Given the description of an element on the screen output the (x, y) to click on. 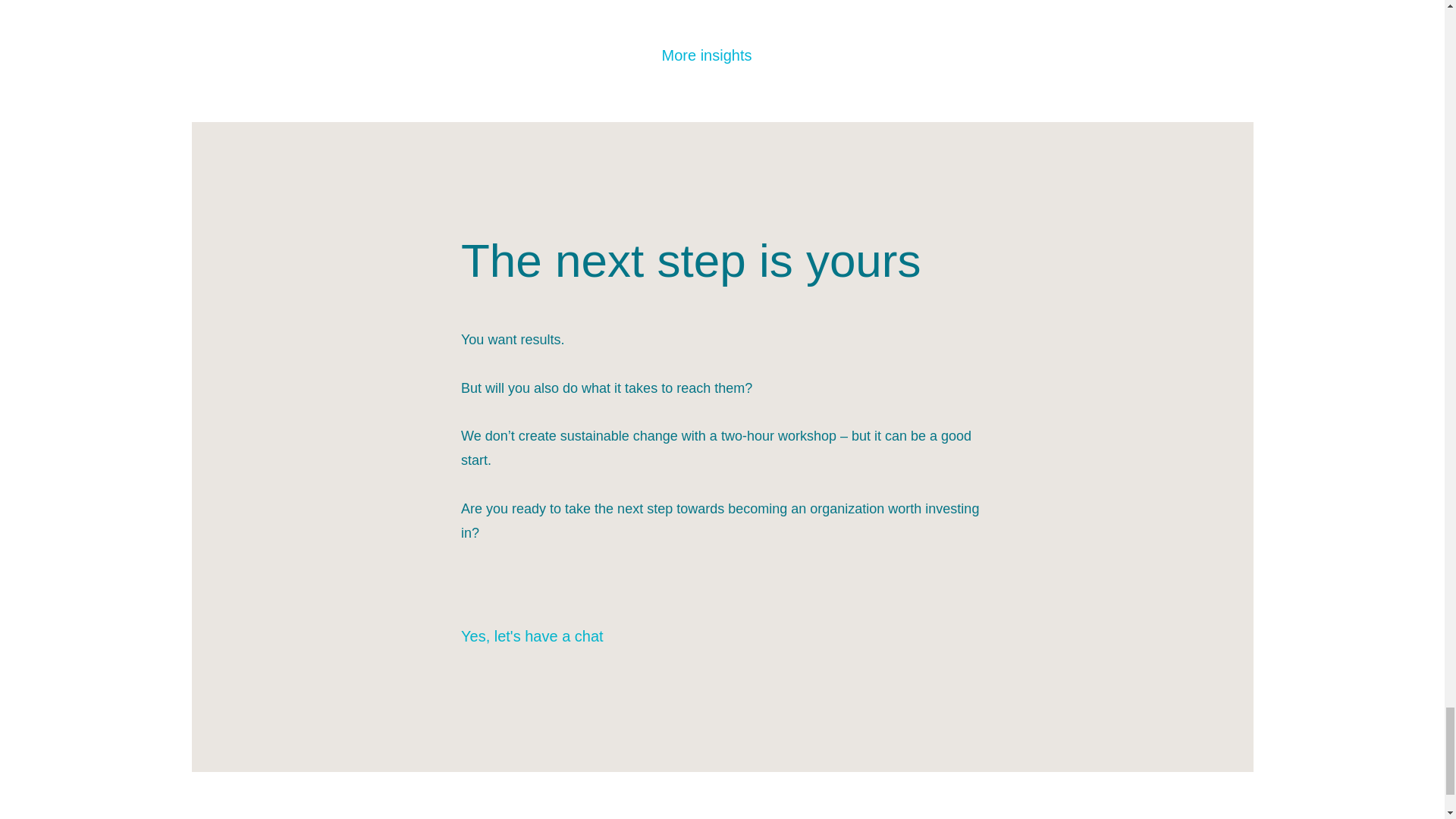
More insights (722, 54)
Yes, let's have a chat (546, 636)
